Given the description of an element on the screen output the (x, y) to click on. 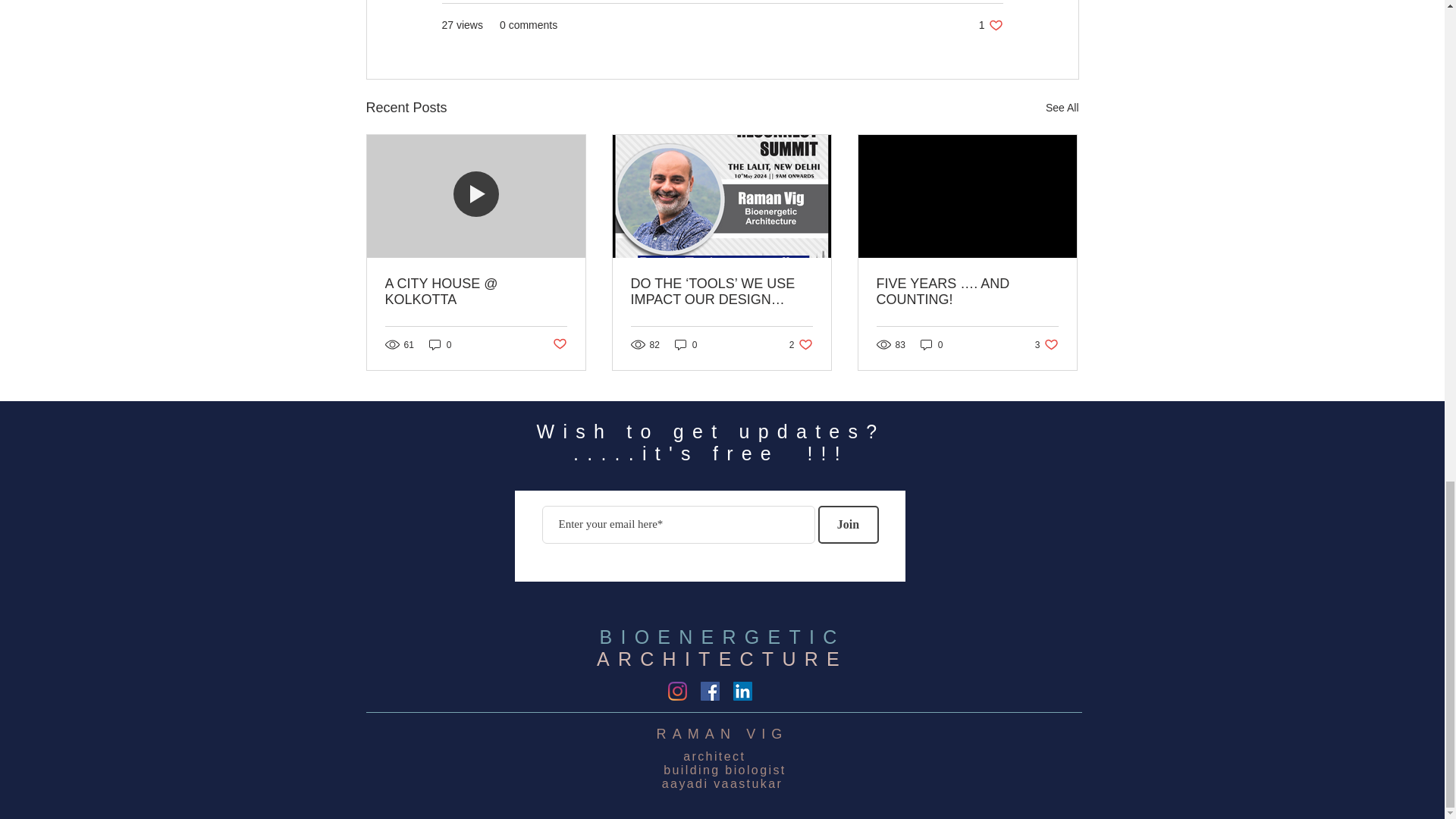
Post not marked as liked (800, 344)
See All (558, 344)
0 (990, 25)
0 (1061, 107)
0 (931, 344)
